Given the description of an element on the screen output the (x, y) to click on. 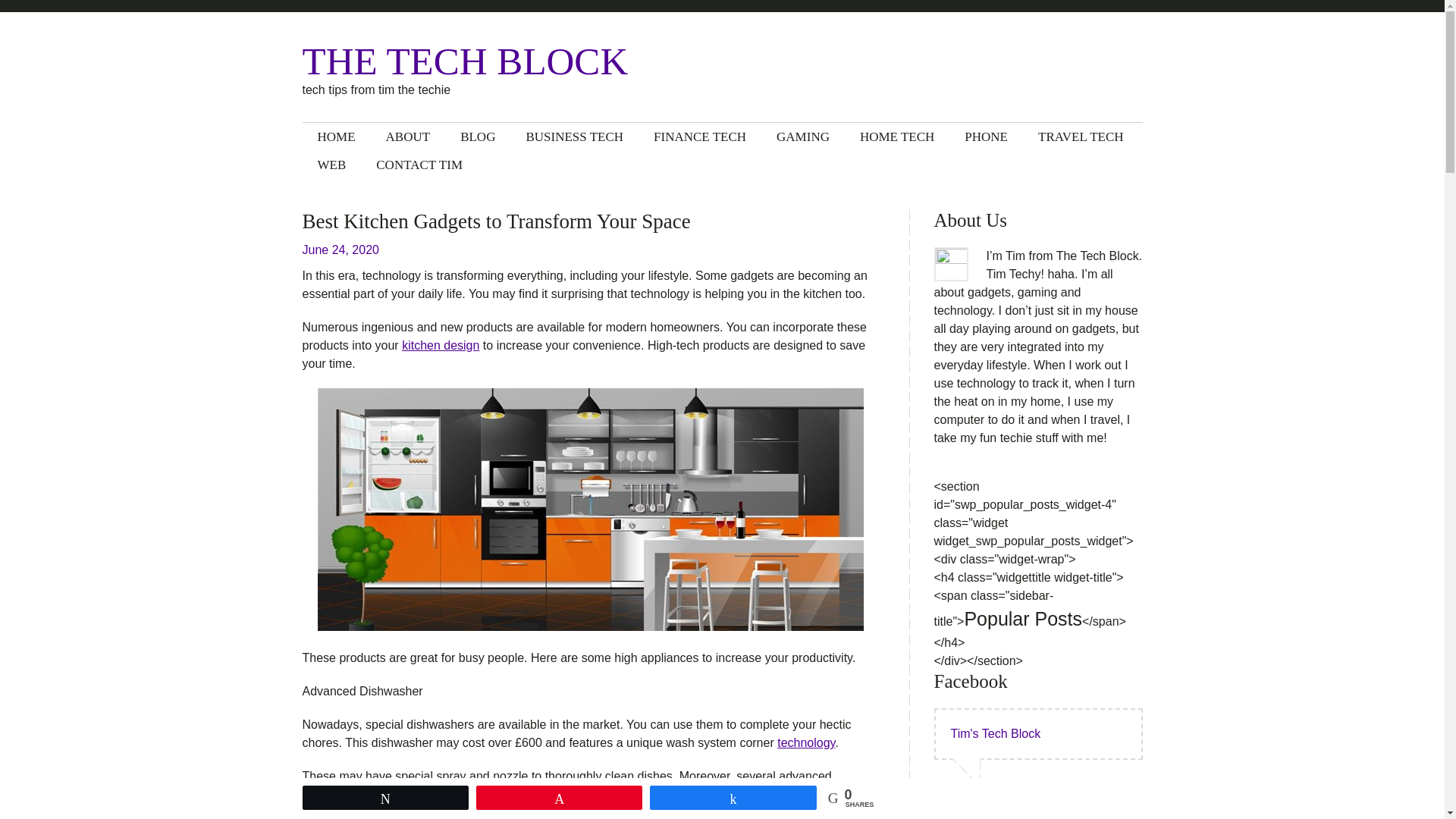
GAMING (802, 136)
ABOUT (408, 136)
Tim's Tech Block (995, 732)
BUSINESS TECH (575, 136)
PHONE (986, 136)
THE TECH BLOCK (479, 61)
BLOG (478, 136)
CONTACT TIM (419, 164)
FINANCE TECH (700, 136)
HOME TECH (896, 136)
WEB (331, 164)
HOME (335, 136)
technology (805, 742)
kitchen design (440, 345)
